Given the description of an element on the screen output the (x, y) to click on. 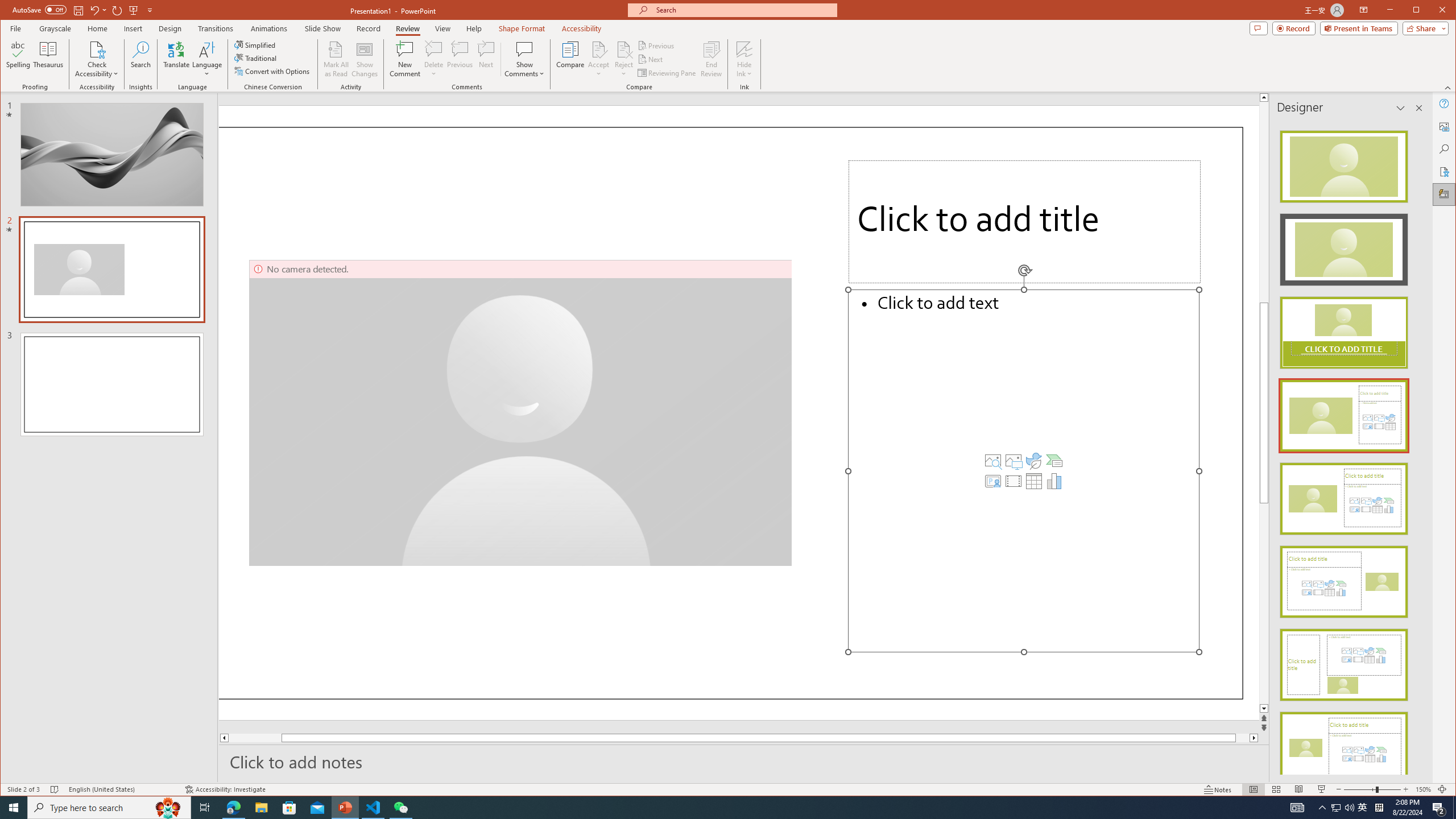
Insert Video (1013, 480)
Translate (175, 59)
Traditional (256, 57)
